Given the description of an element on the screen output the (x, y) to click on. 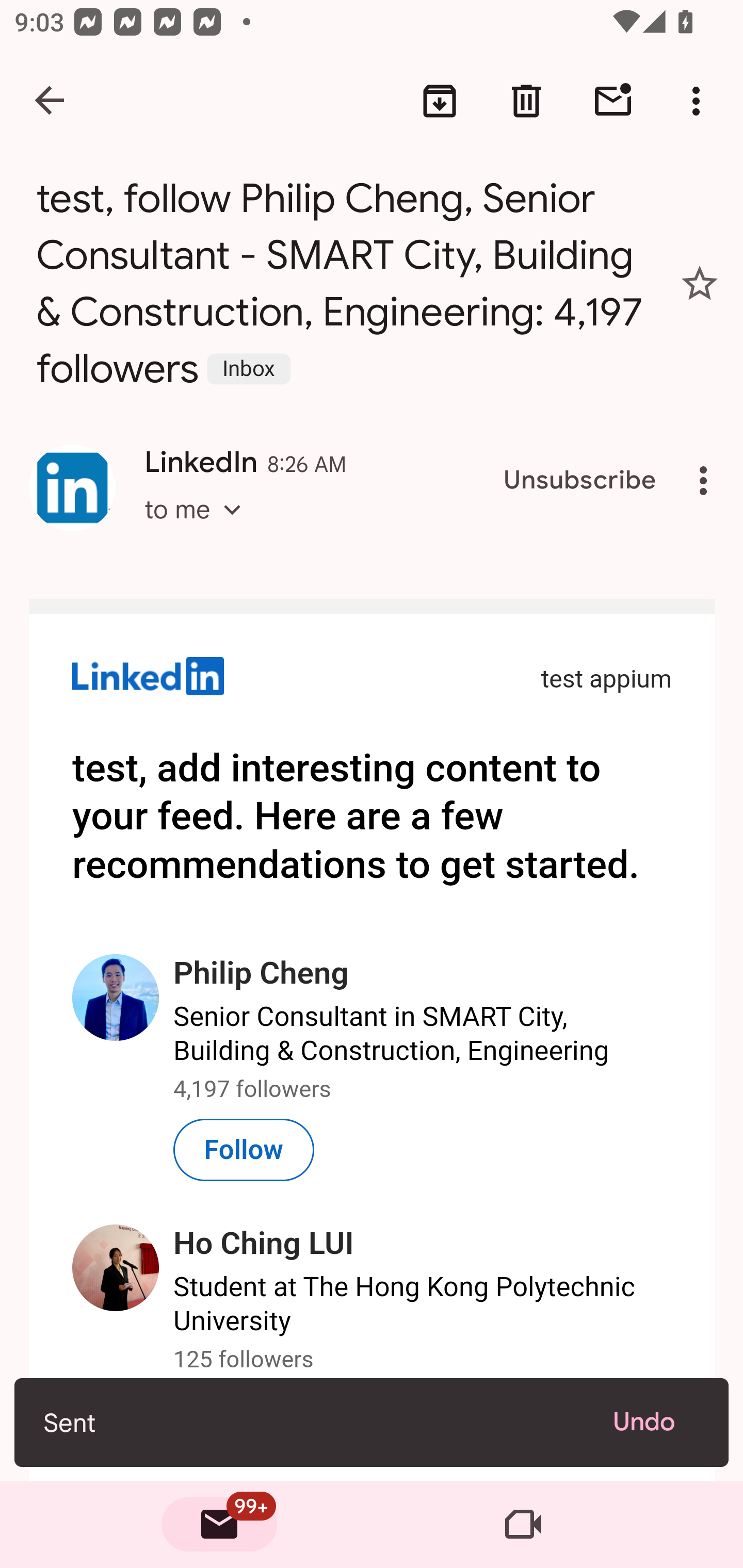
Navigate up (50, 101)
Archive (439, 101)
Delete (525, 101)
Mark unread (612, 101)
More options (699, 101)
Add star (699, 283)
Unsubscribe (579, 480)
More options (706, 480)
Show contact information for LinkedIn (71, 488)
to me (199, 527)
test appium (606, 679)
Philip Cheng’s Profile Picture (116, 997)
Philip Cheng (261, 973)
Follow  (244, 1149)
Ho Ching LUI’s Profile Picture (116, 1268)
Ho Ching LUI (264, 1243)
Undo (655, 1422)
Meet (523, 1524)
